Given the description of an element on the screen output the (x, y) to click on. 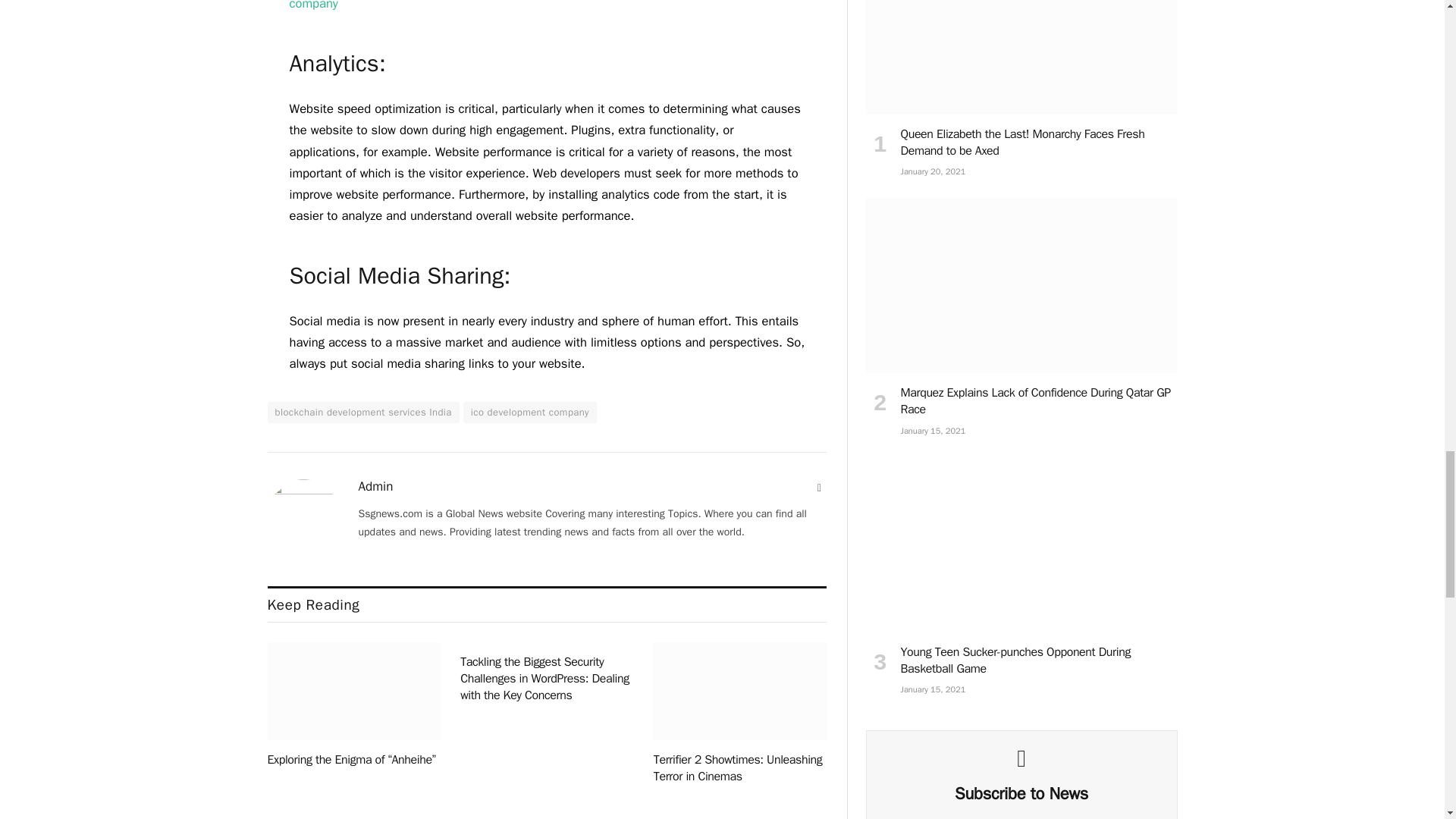
Posts by Admin (375, 486)
Website (818, 488)
